Given the description of an element on the screen output the (x, y) to click on. 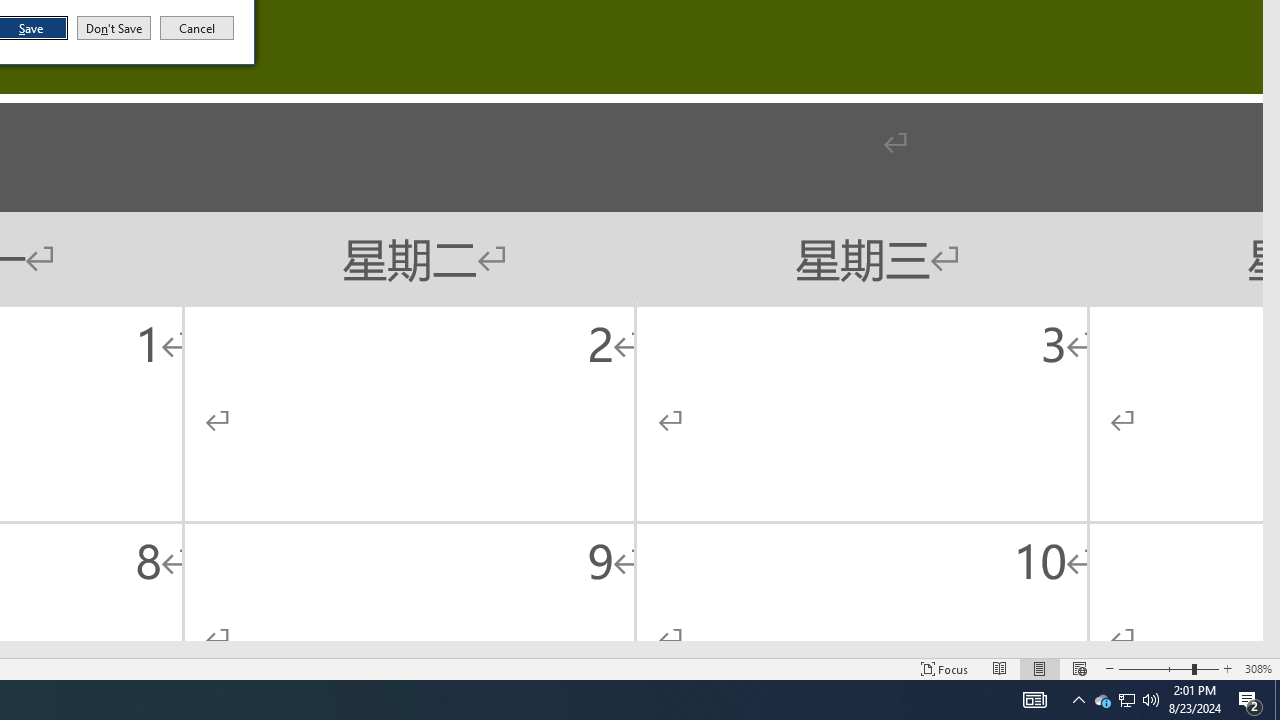
Print Layout (1039, 668)
Don't Save (113, 27)
User Promoted Notification Area (1126, 699)
Zoom In (1126, 699)
Zoom (1227, 668)
Show desktop (1168, 668)
Action Center, 2 new notifications (1277, 699)
Web Layout (1250, 699)
Cancel (1079, 668)
Read Mode (197, 27)
AutomationID: 4105 (1000, 668)
Q2790: 100% (1034, 699)
